Given the description of an element on the screen output the (x, y) to click on. 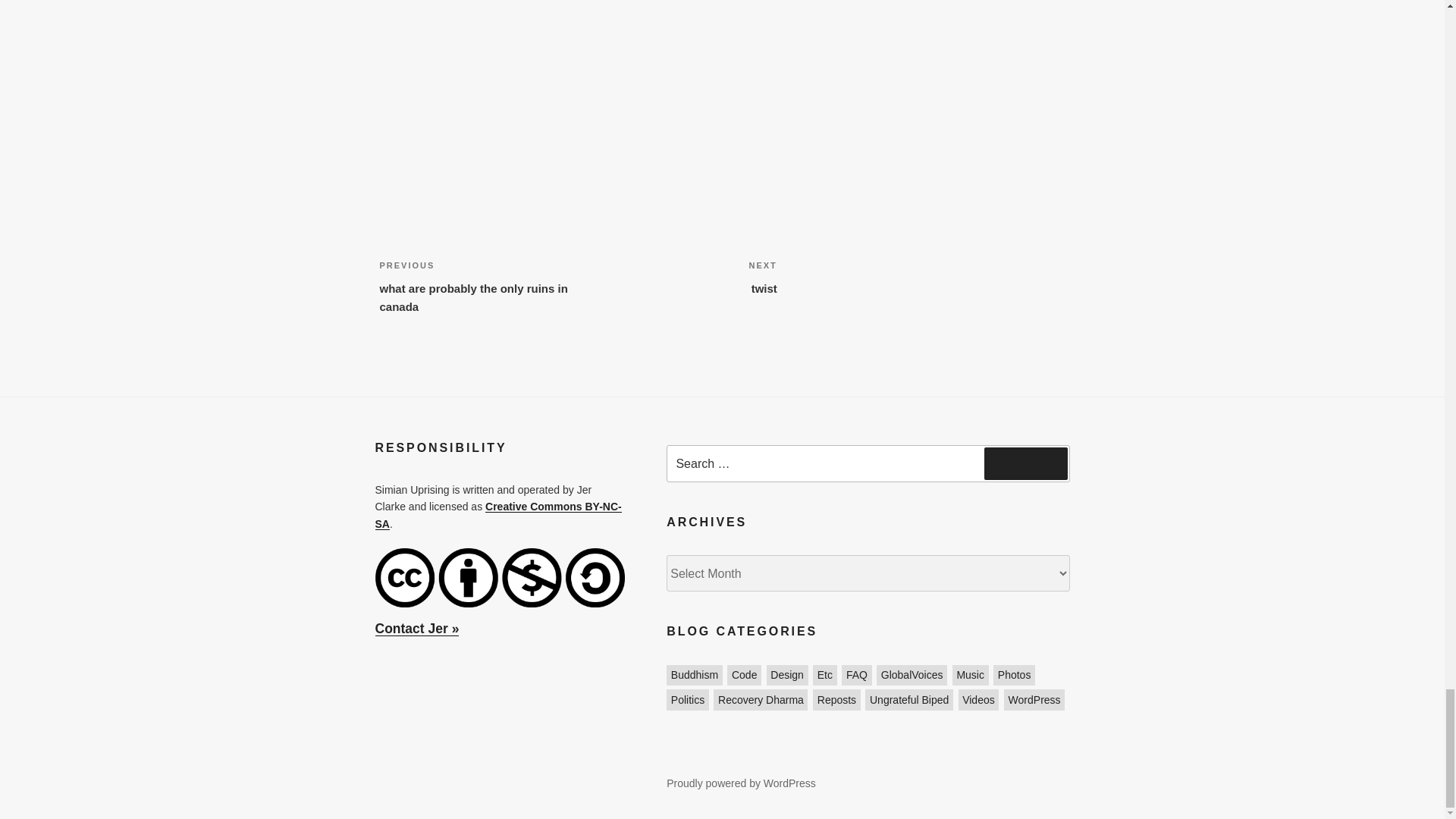
Comment Form (677, 277)
